Given the description of an element on the screen output the (x, y) to click on. 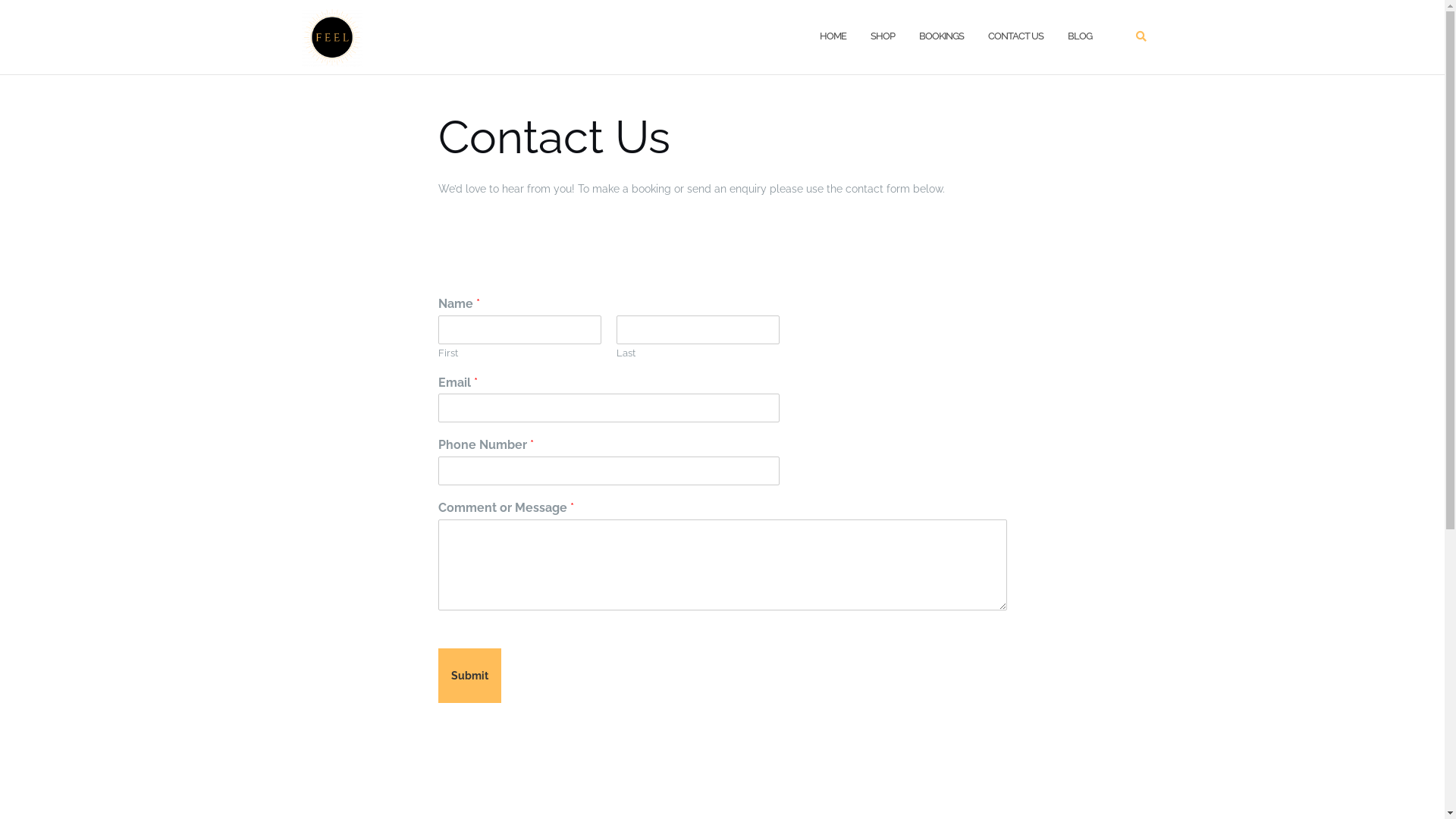
SHOP Element type: text (882, 36)
BLOG Element type: text (1079, 36)
Submit Element type: text (469, 675)
BOOKINGS Element type: text (941, 36)
HOME Element type: text (832, 36)
CONTACT US Element type: text (1014, 36)
